Given the description of an element on the screen output the (x, y) to click on. 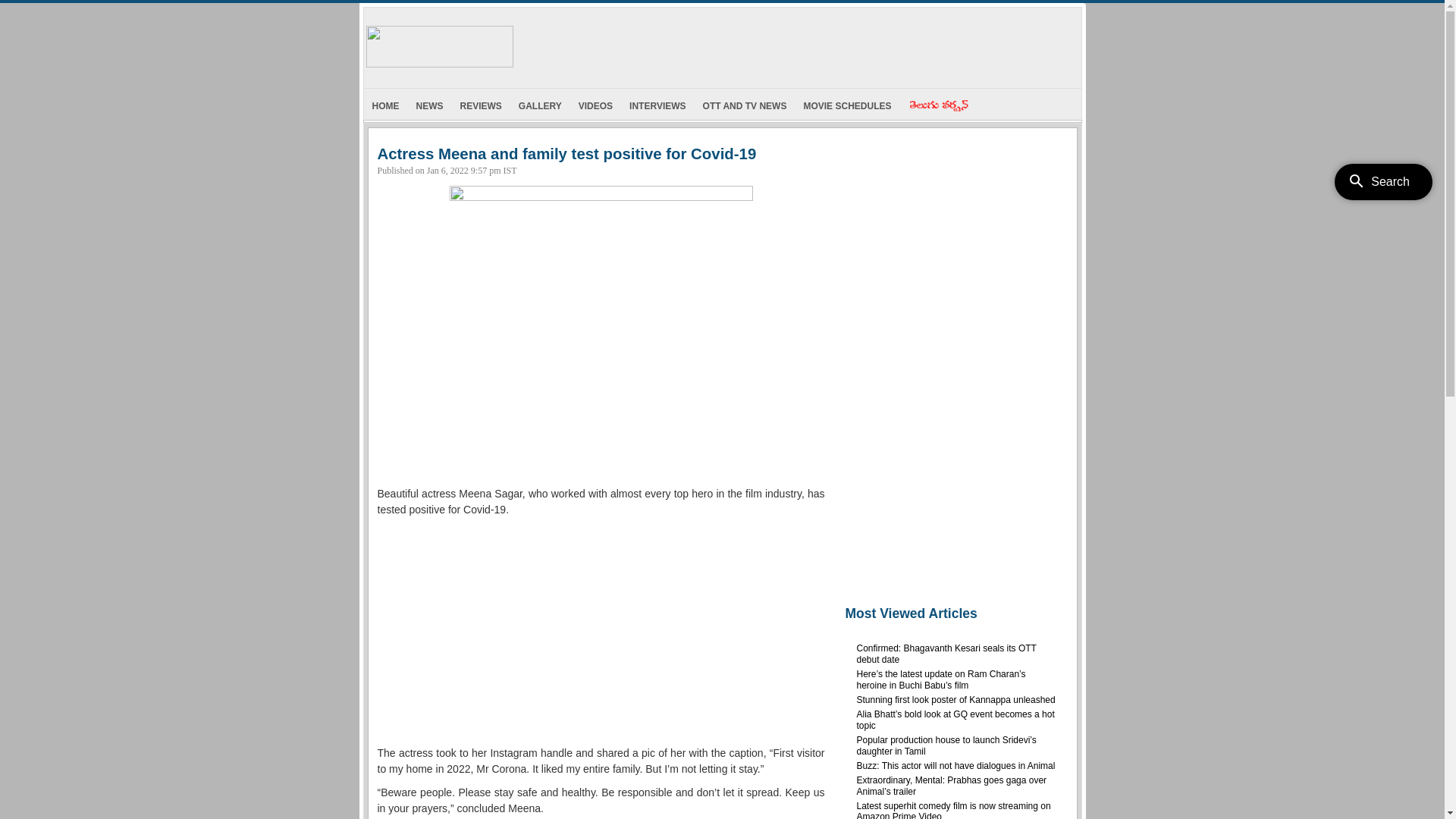
NEWS Element type: text (429, 103)
INTERVIEWS Element type: text (657, 103)
Stunning first look poster of Kannappa unleashed Element type: text (955, 699)
Confirmed: Bhagavanth Kesari seals its OTT debut date Element type: text (946, 653)
Buzz: This actor will not have dialogues in Animal Element type: text (955, 765)
MOVIE SCHEDULES Element type: text (846, 103)
REVIEWS Element type: text (480, 103)
Advertisement Element type: hover (800, 43)
HOME Element type: text (385, 103)
Advertisement Element type: hover (953, 371)
Advertisement Element type: hover (601, 631)
GALLERY Element type: text (540, 103)
OTT AND TV NEWS Element type: text (744, 103)
VIDEOS Element type: text (595, 103)
